Given the description of an element on the screen output the (x, y) to click on. 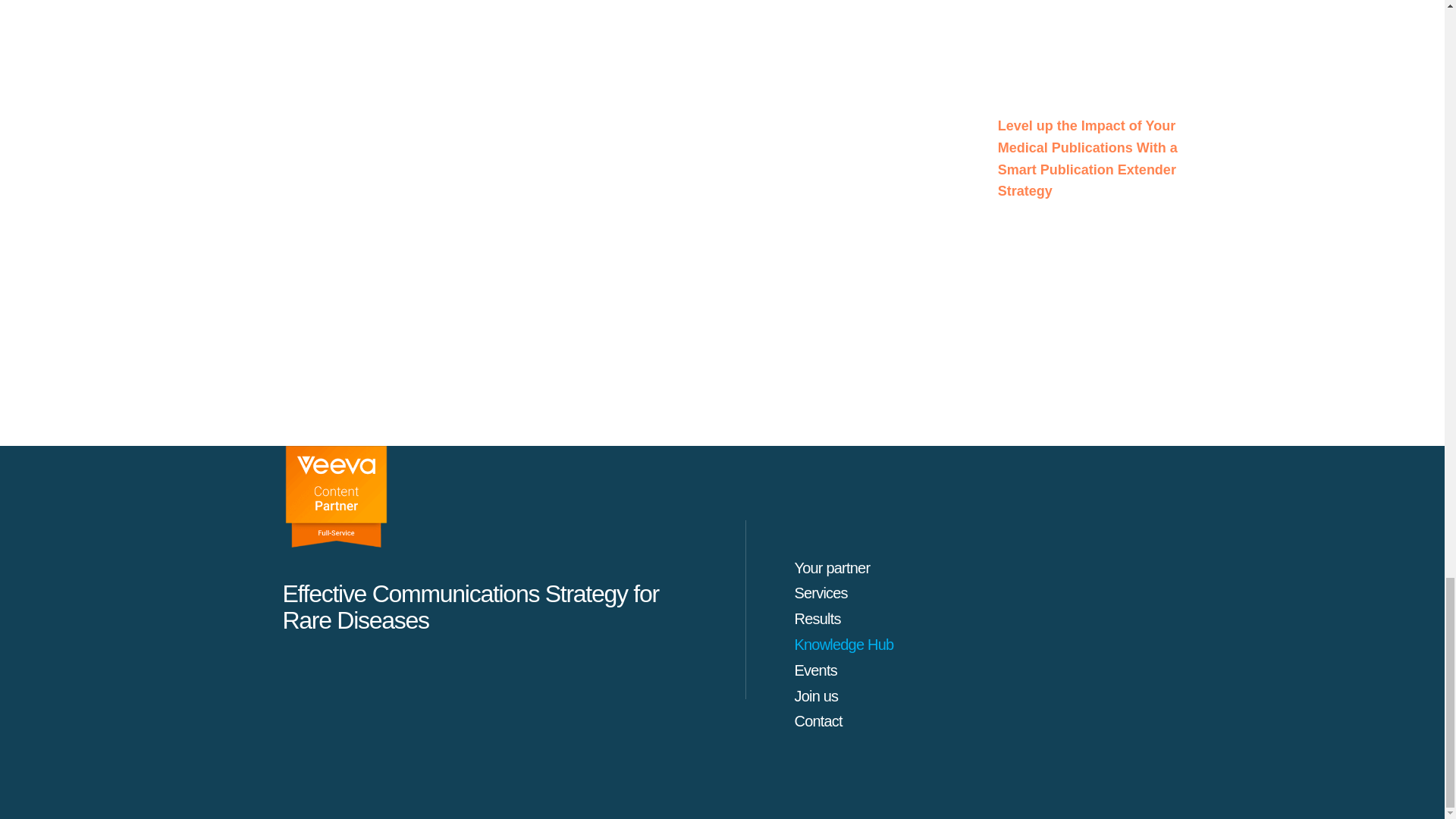
Your partner (832, 567)
Knowledge Hub (843, 644)
Join us (816, 695)
Events (815, 669)
Services (820, 592)
Contact (818, 720)
Results (817, 618)
